Given the description of an element on the screen output the (x, y) to click on. 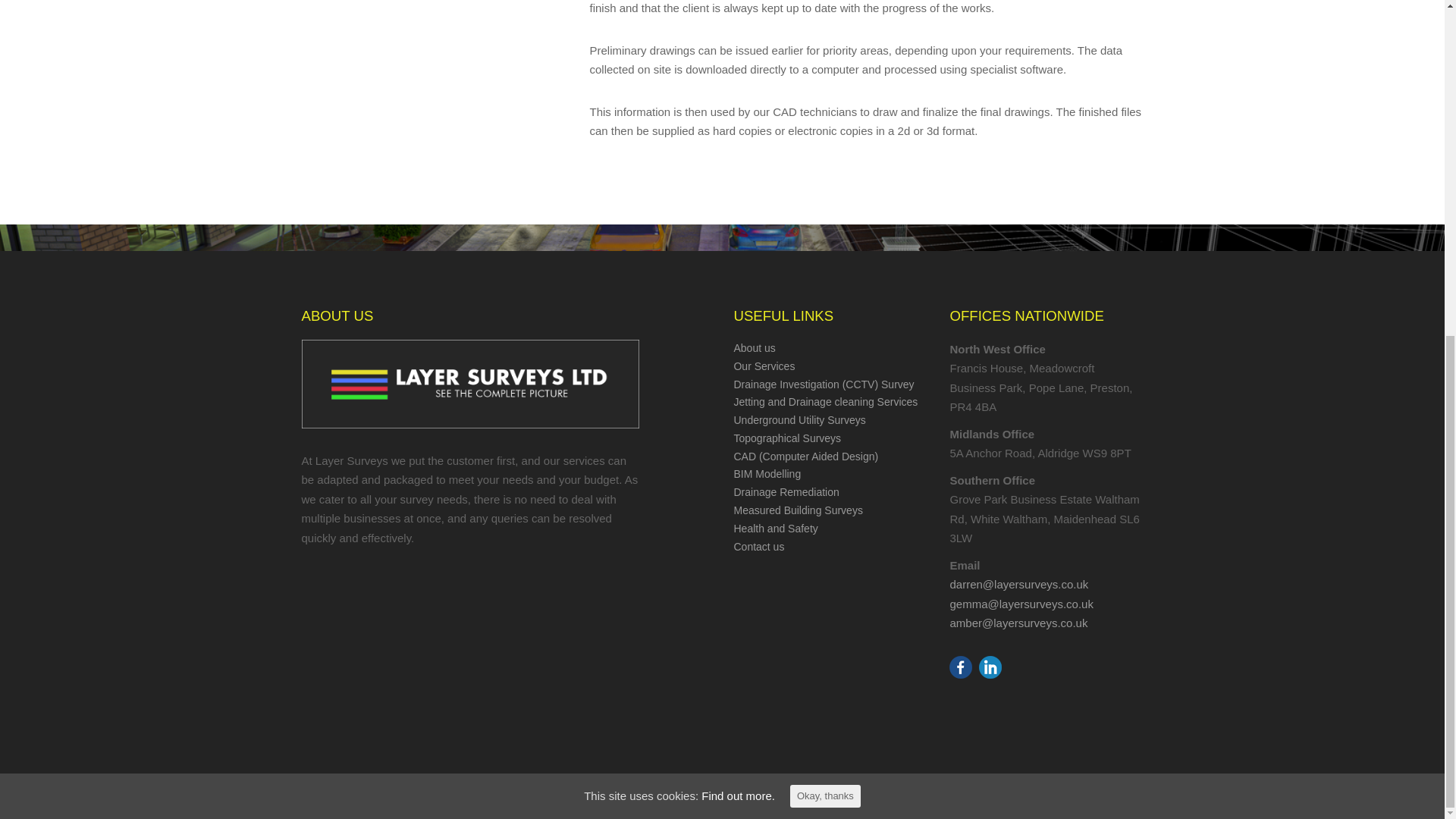
Jetting and Drainage cleaning Services (825, 401)
Our Services (763, 366)
BIM Modelling (766, 473)
Measured Building Surveys (797, 510)
About us (753, 347)
Underground Utility Surveys (798, 419)
Topographical Surveys (787, 438)
Drainage Remediation (785, 491)
